Given the description of an element on the screen output the (x, y) to click on. 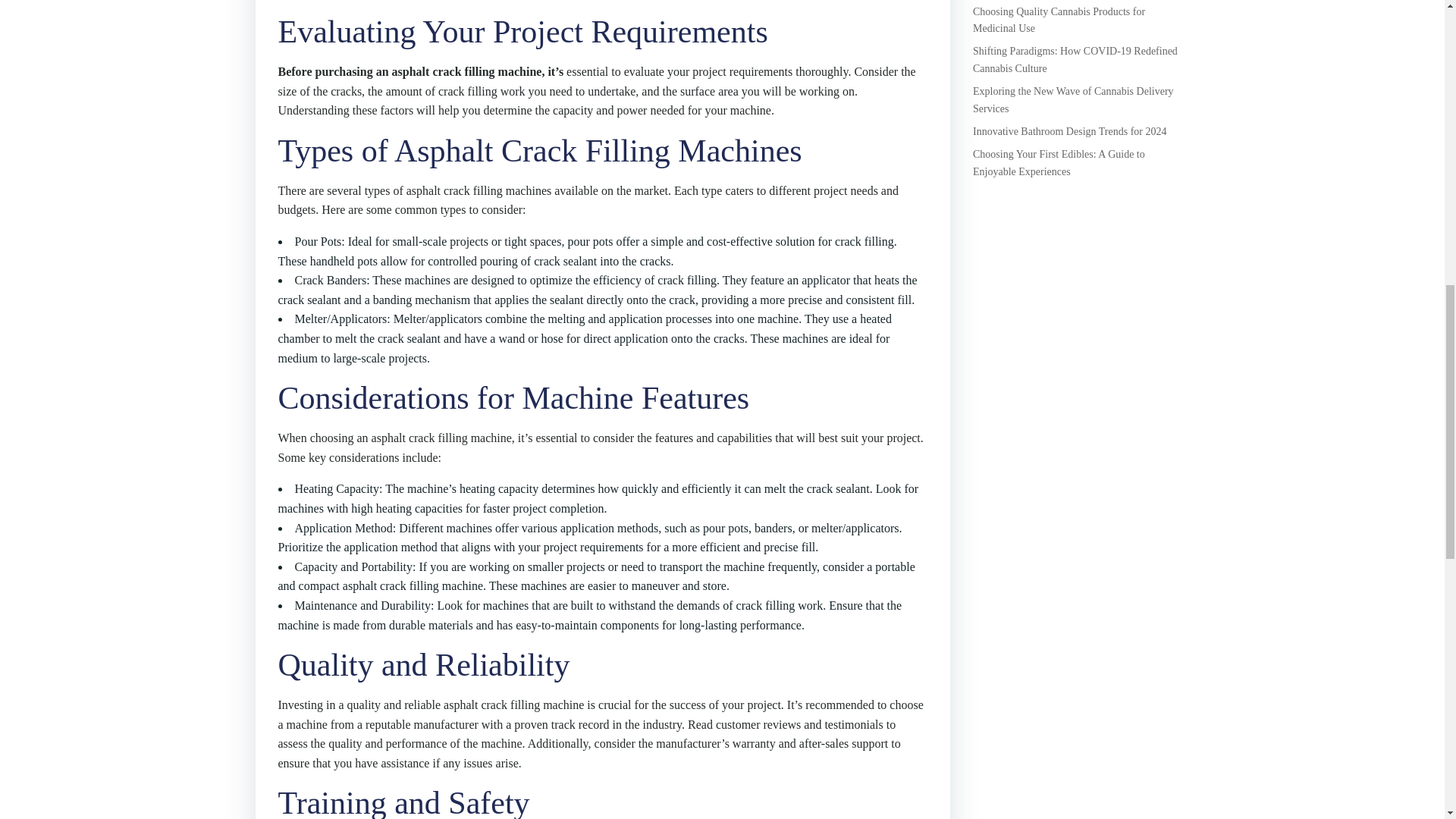
Innovative Bathroom Design Trends for 2024 (1069, 131)
Exploring the New Wave of Cannabis Delivery Services (1072, 99)
Choosing Quality Cannabis Products for Medicinal Use (1058, 19)
Shifting Paradigms: How COVID-19 Redefined Cannabis Culture (1074, 59)
